Given the description of an element on the screen output the (x, y) to click on. 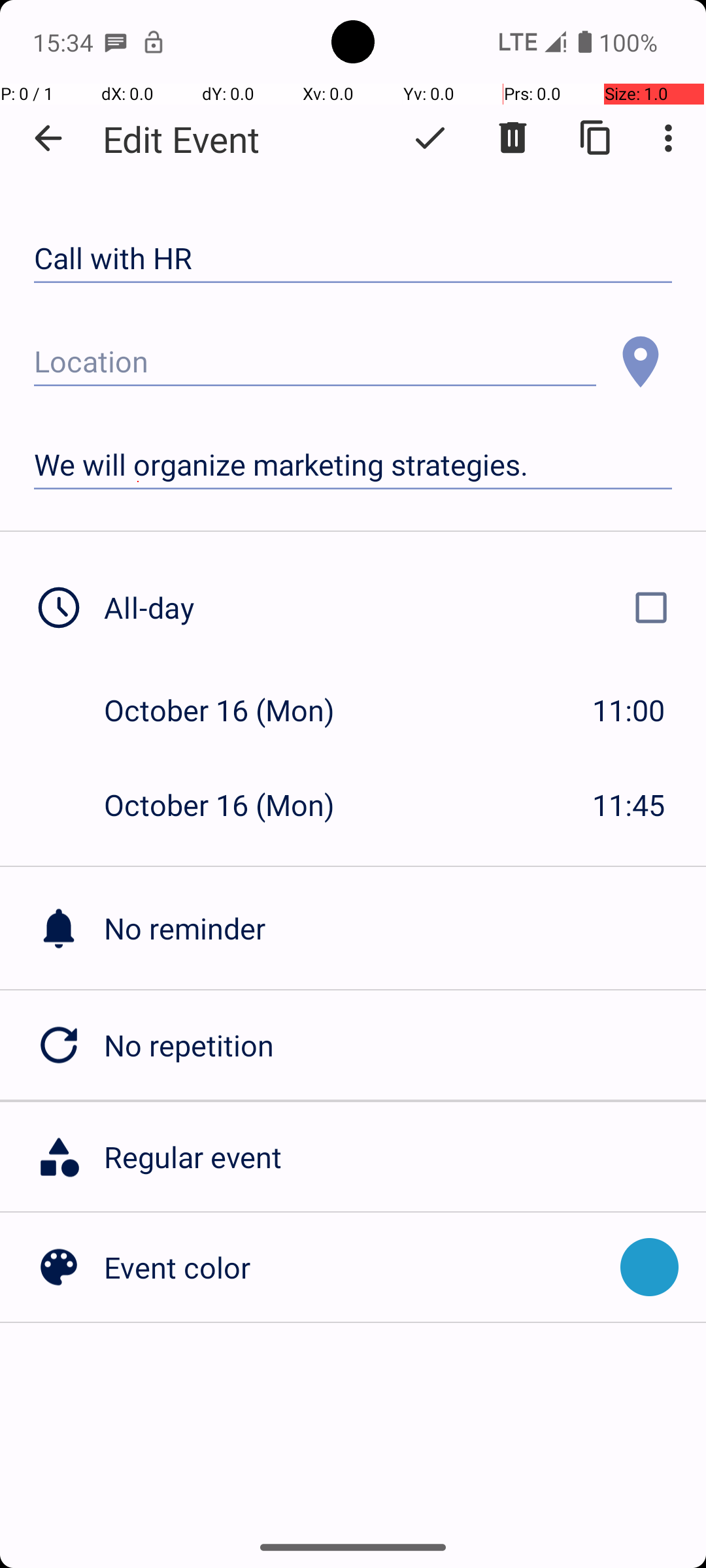
Call with HR Element type: android.widget.EditText (352, 258)
We will organize marketing strategies. Element type: android.widget.EditText (352, 465)
11:45 Element type: android.widget.TextView (628, 804)
